Given the description of an element on the screen output the (x, y) to click on. 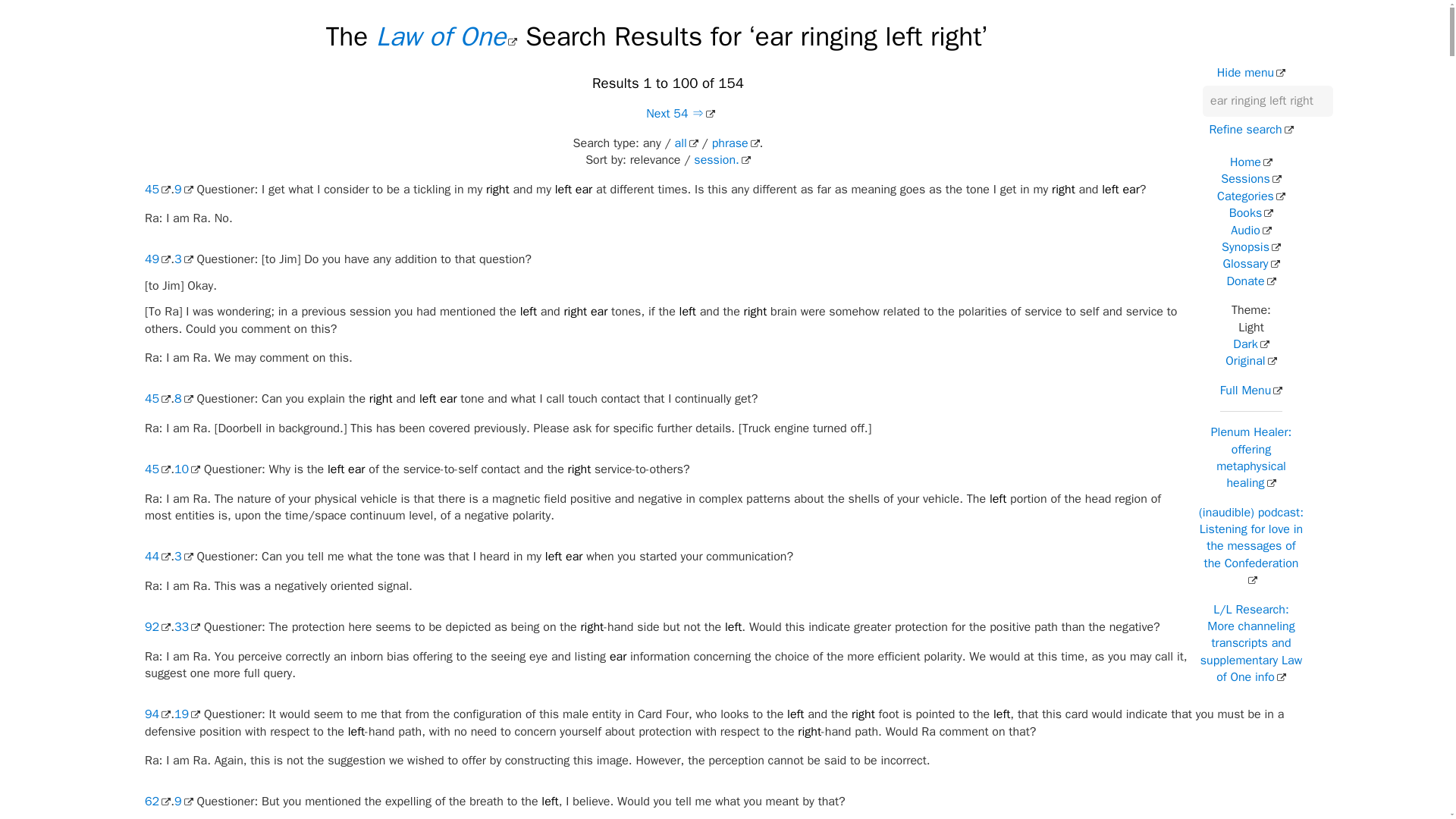
92 (157, 626)
94 (157, 713)
all (686, 142)
45 (157, 468)
3 (183, 556)
45 (157, 398)
9 (183, 801)
45 (157, 189)
8 (183, 398)
33 (187, 626)
10 (187, 468)
3 (183, 258)
19 (187, 713)
session. (721, 159)
49 (157, 258)
